Given the description of an element on the screen output the (x, y) to click on. 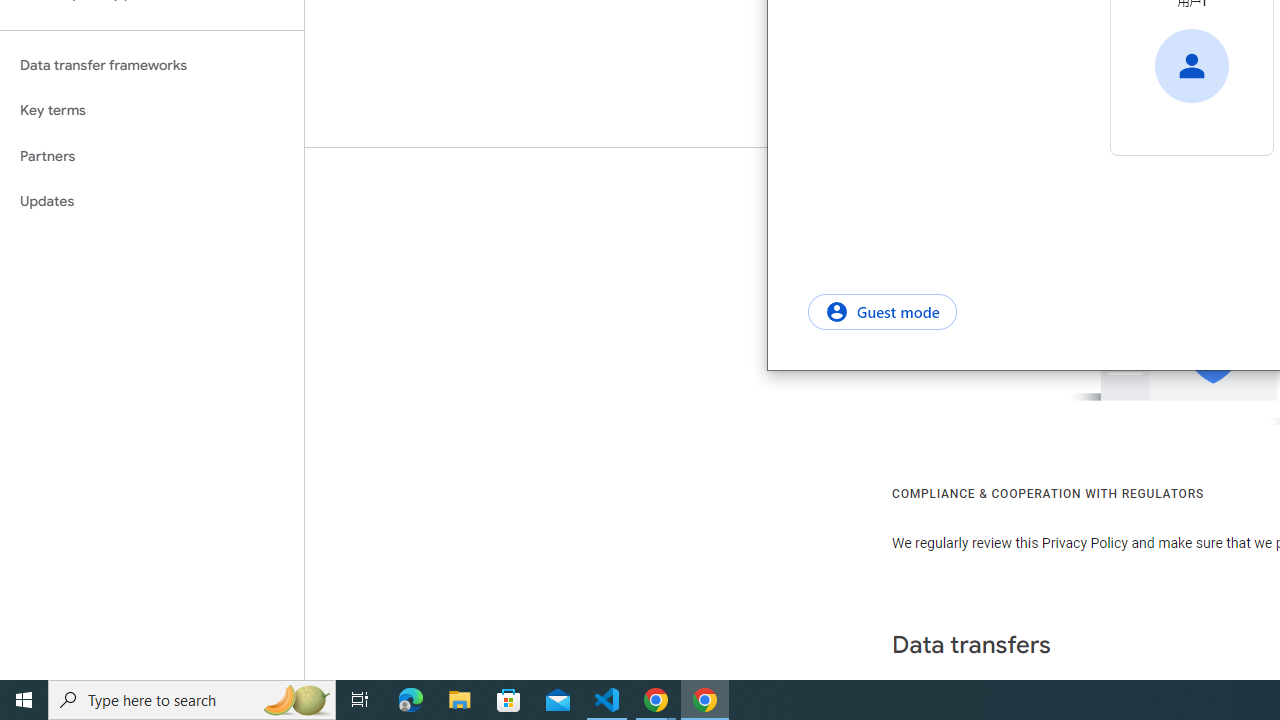
Search highlights icon opens search home window (295, 699)
Visual Studio Code - 1 running window (607, 699)
